Given the description of an element on the screen output the (x, y) to click on. 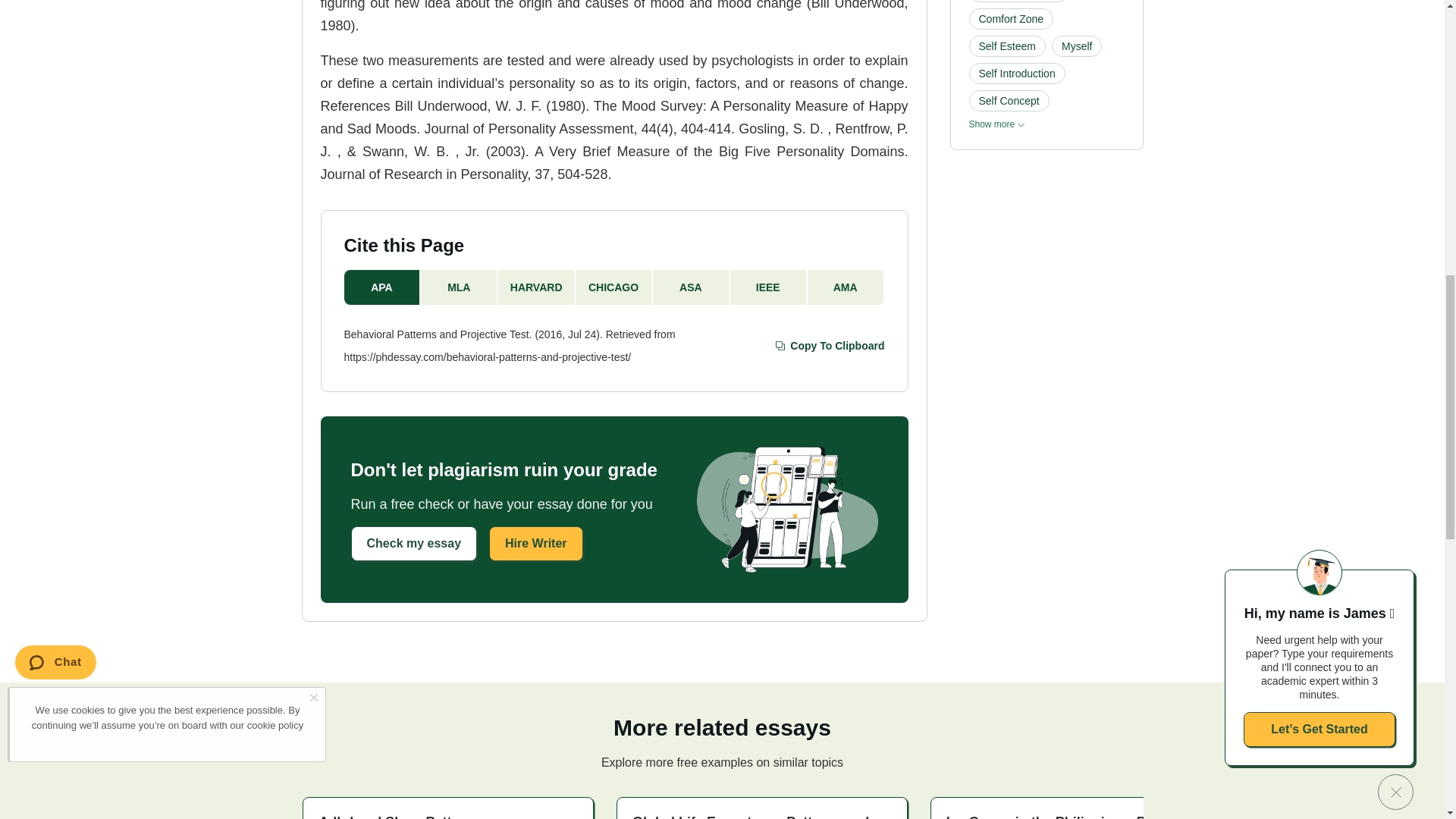
ASA (691, 287)
MLA (458, 287)
APA (382, 287)
CHICAGO (613, 287)
HARVARD (536, 287)
